Given the description of an element on the screen output the (x, y) to click on. 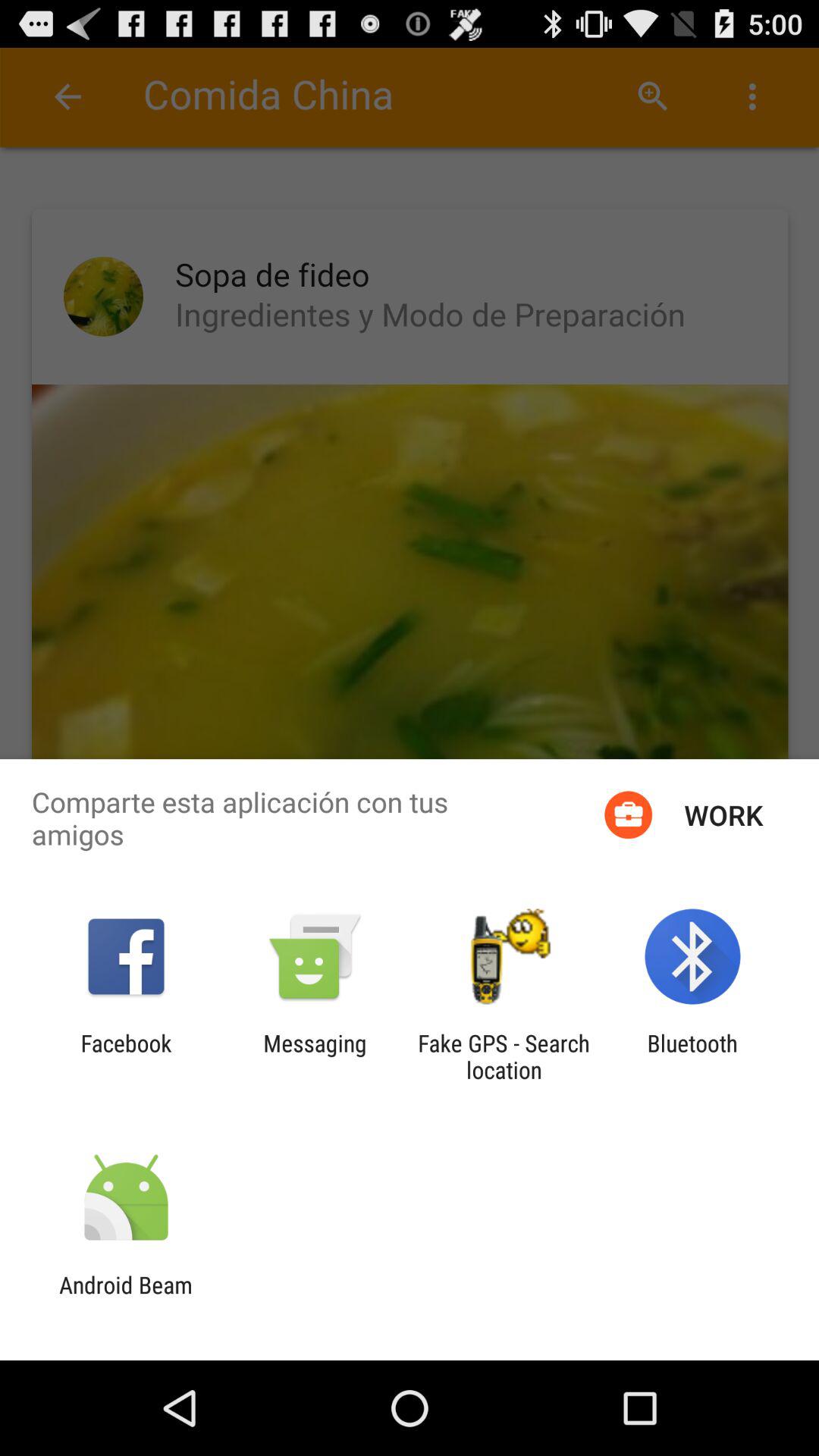
turn off item next to fake gps search (314, 1056)
